Given the description of an element on the screen output the (x, y) to click on. 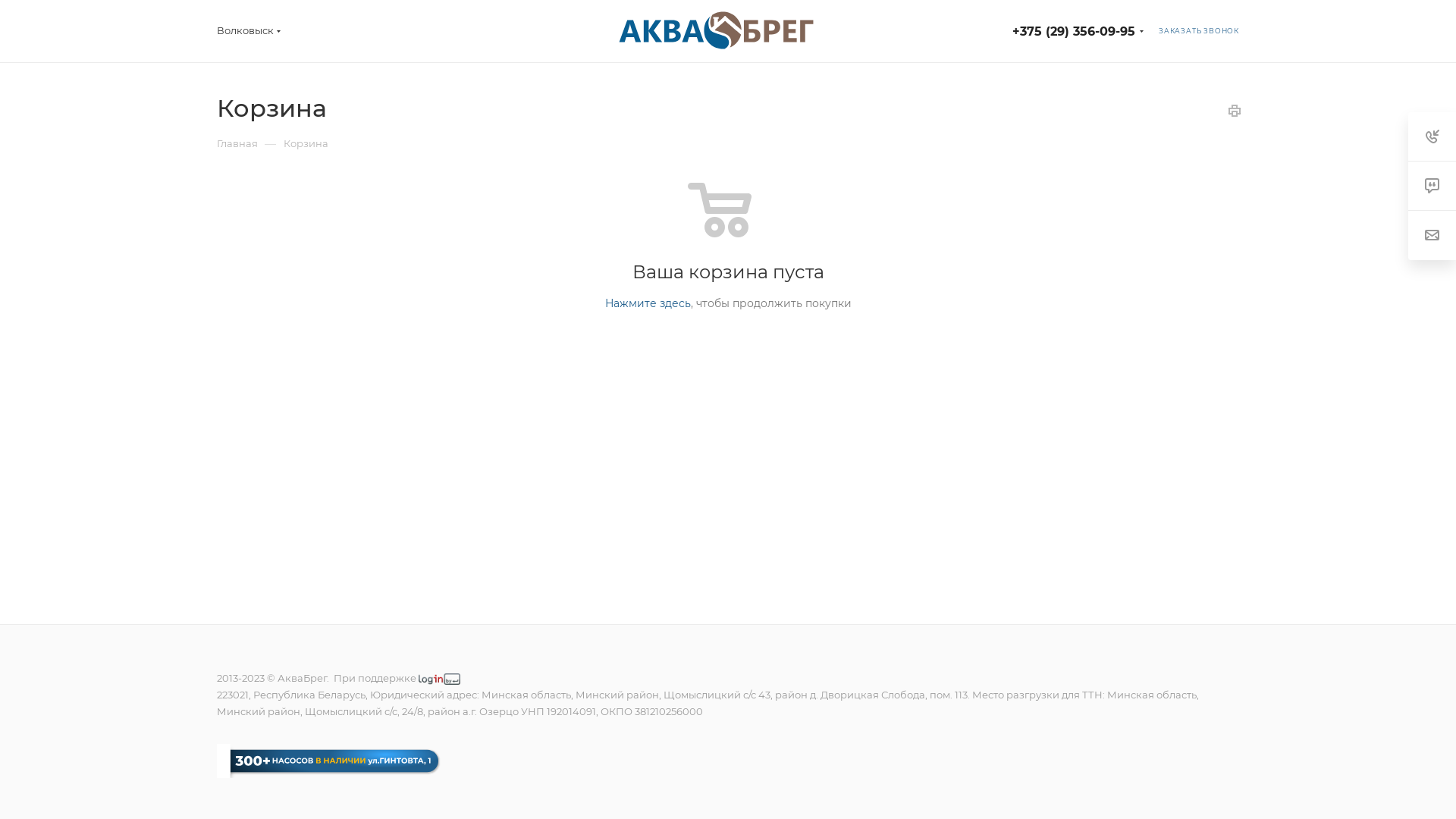
login-logo.png Element type: hover (439, 678)
+375 (29) 356-09-95 Element type: text (1073, 31)
